Given the description of an element on the screen output the (x, y) to click on. 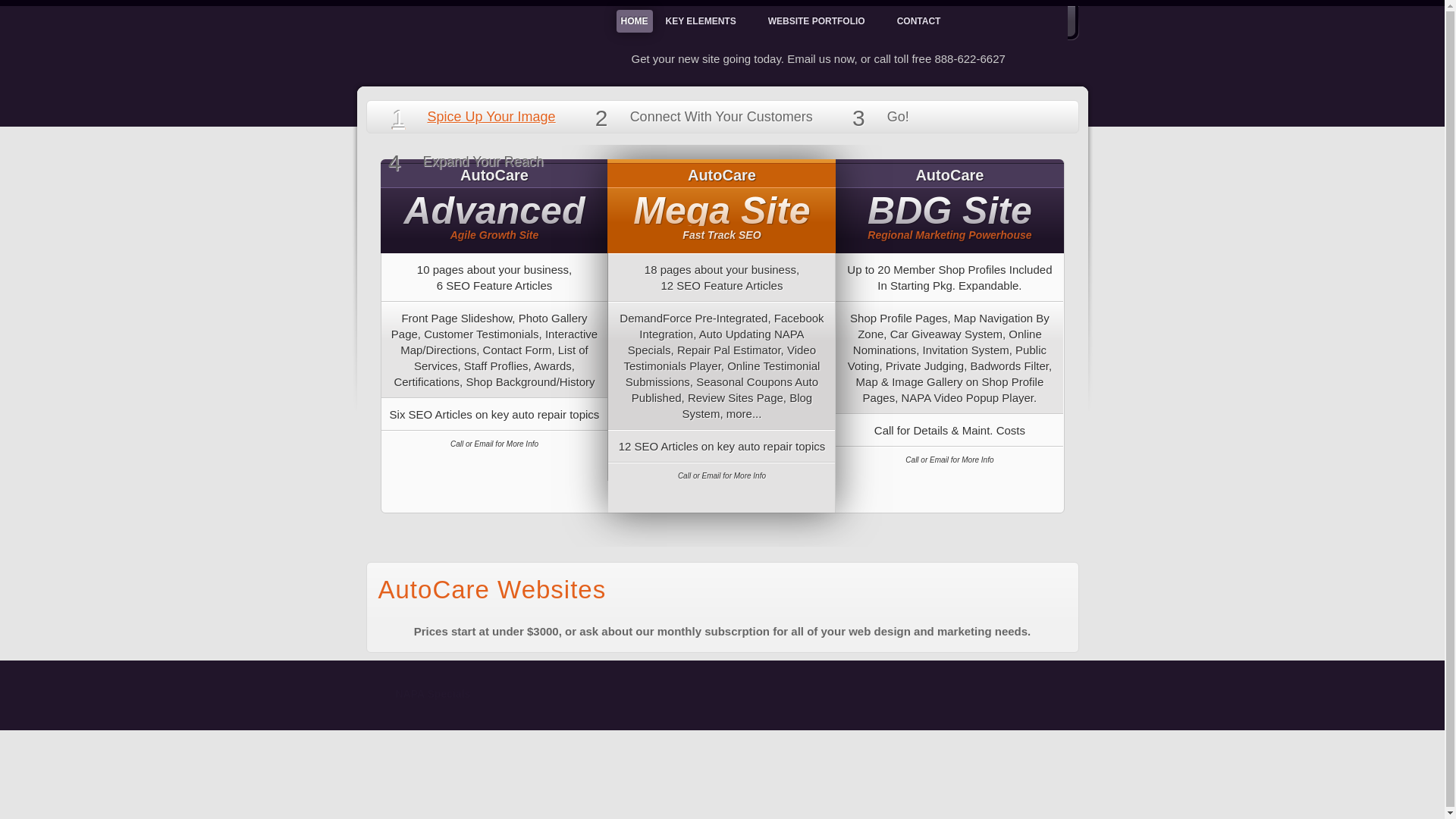
KEY ELEMENTS (708, 20)
AutoCare Websites (491, 589)
NAPA Specials (722, 694)
WEBSITE PORTFOLIO (822, 20)
HOME (633, 20)
CONTACT (925, 20)
